Given the description of an element on the screen output the (x, y) to click on. 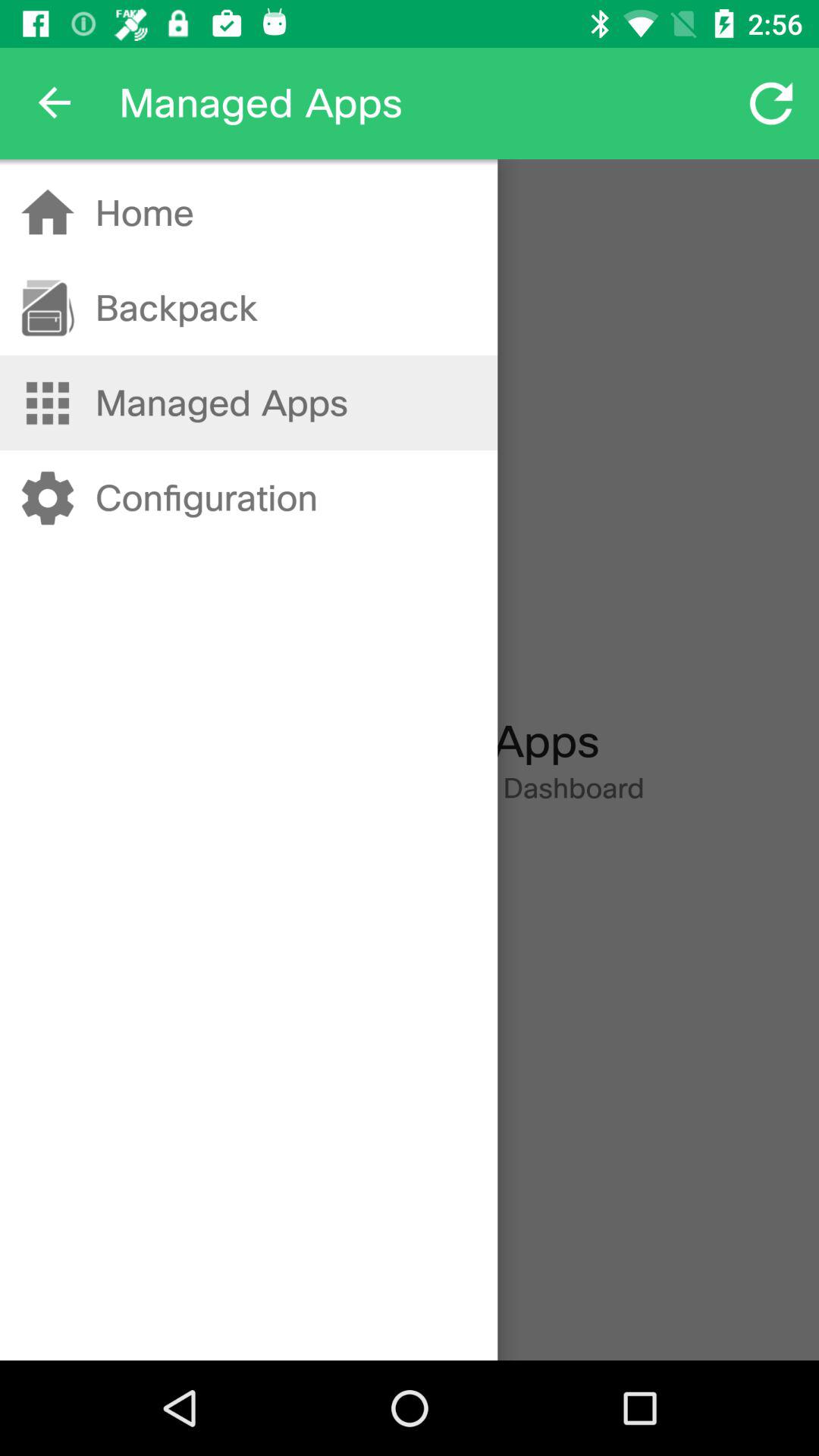
swipe to the configuration item (206, 497)
